Given the description of an element on the screen output the (x, y) to click on. 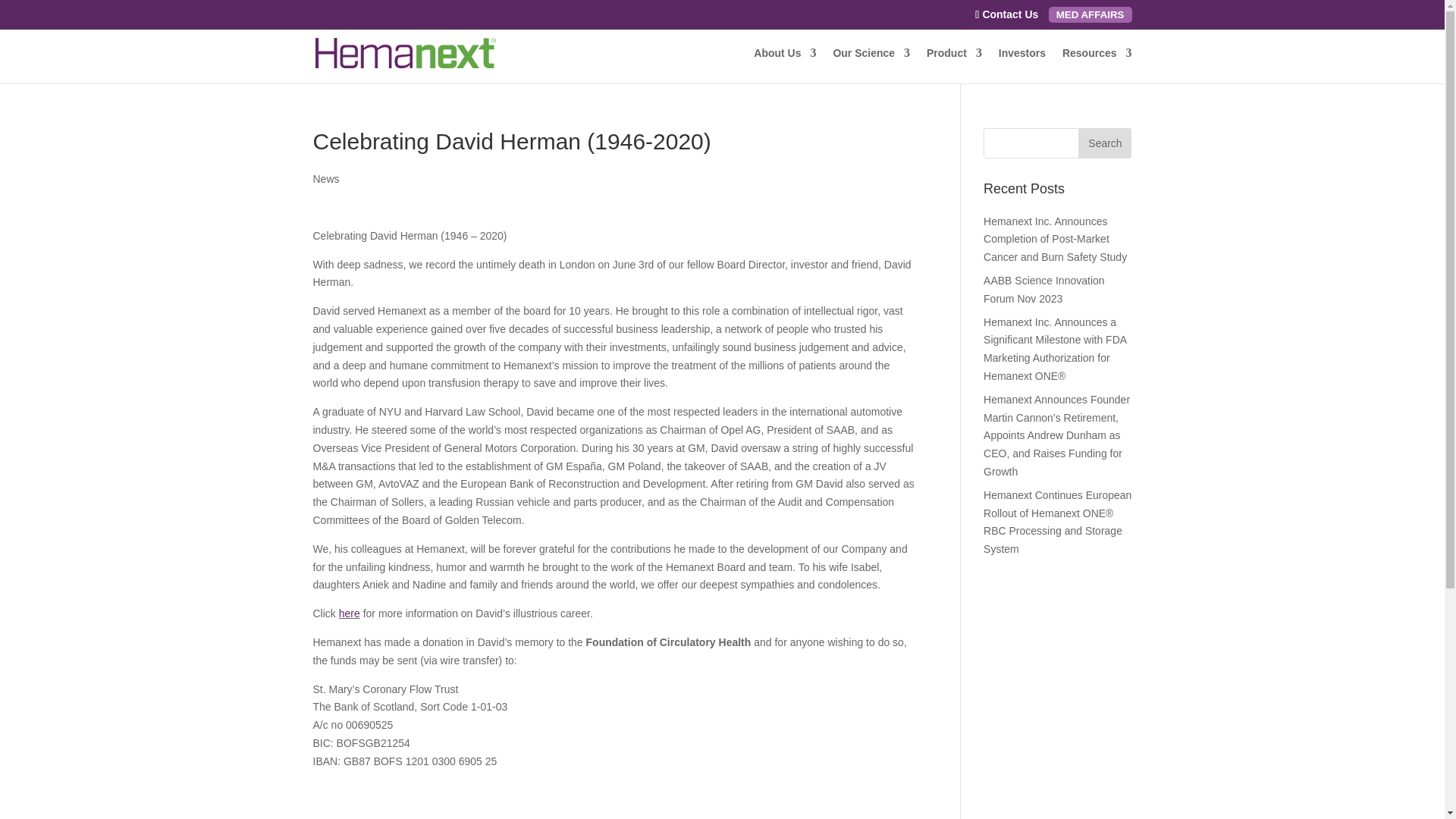
Resources (1097, 65)
Investors (1021, 65)
Search (1104, 142)
Product (953, 65)
here (349, 613)
Our Science (871, 65)
Contact Us (1006, 14)
News (326, 178)
MED AFFAIRS (1090, 14)
MED AFFAIRS (1090, 14)
